Given the description of an element on the screen output the (x, y) to click on. 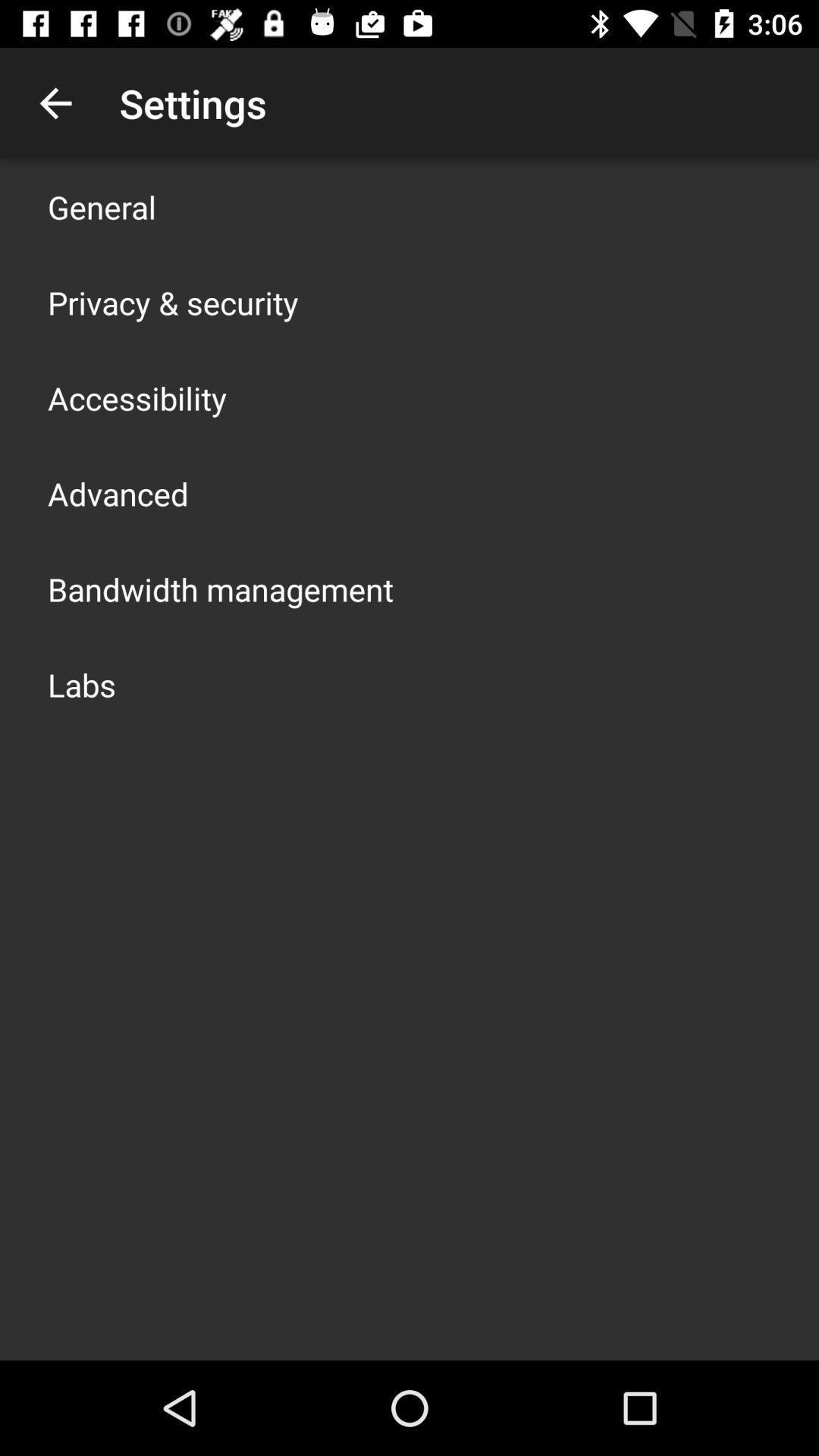
press app above general app (55, 103)
